Given the description of an element on the screen output the (x, y) to click on. 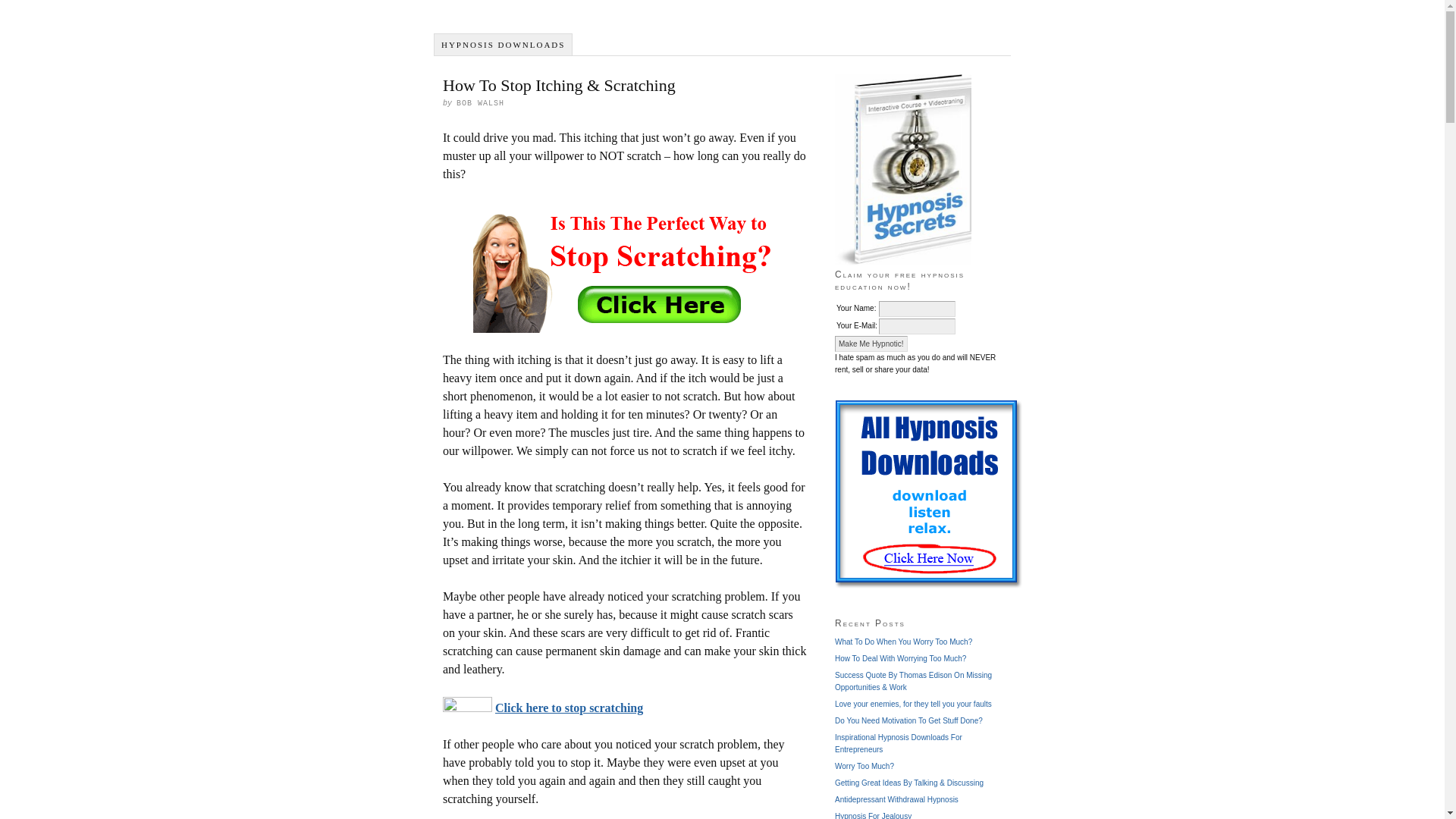
Inspirational Hypnosis Downloads For Entrepreneurs (898, 743)
HYPNOSIS DOWNLOADS (502, 44)
What To Do When You Worry Too Much? (903, 642)
Hypnosis For Jealousy (872, 815)
stop scratching (624, 266)
right arrow (467, 703)
Love your enemies, for they tell you your faults (912, 704)
Click here to stop scratching (569, 707)
Make Me Hypnotic! (870, 343)
Stop scratching (624, 266)
